Given the description of an element on the screen output the (x, y) to click on. 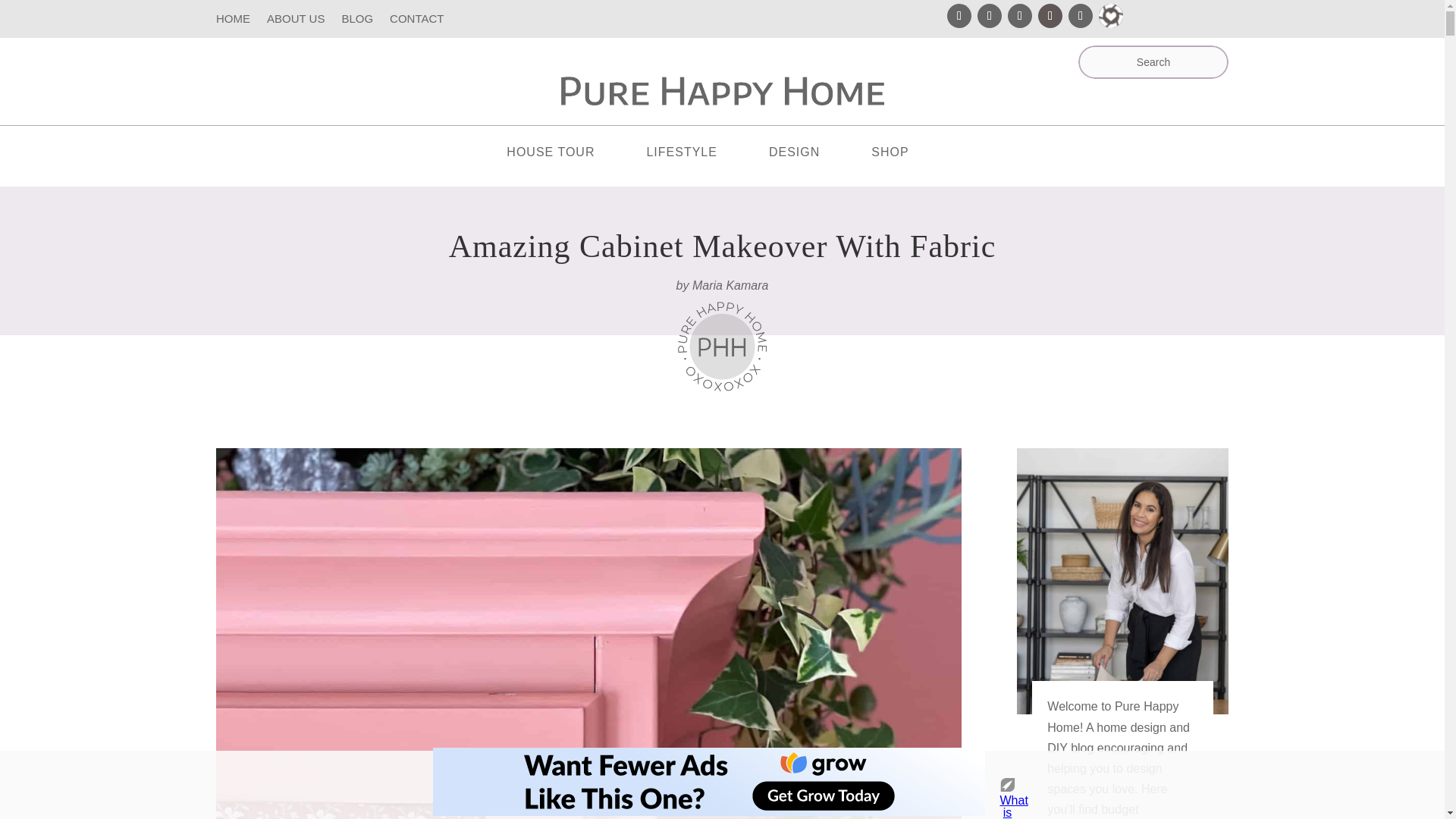
Follow on TikTok (1050, 15)
LIFESTYLE (695, 155)
HOME (232, 21)
PureHappyHome-EncodeSansSC (721, 90)
BLOG (356, 21)
Search (25, 16)
DESIGN (808, 155)
Follow on Pinterest (959, 15)
CONTACT (417, 21)
Follow on Facebook (1019, 15)
SHOP (903, 155)
HOUSE TOUR (564, 155)
ABOUT US (295, 21)
Follow on Youtube (1080, 15)
Like To Know It (1110, 15)
